Given the description of an element on the screen output the (x, y) to click on. 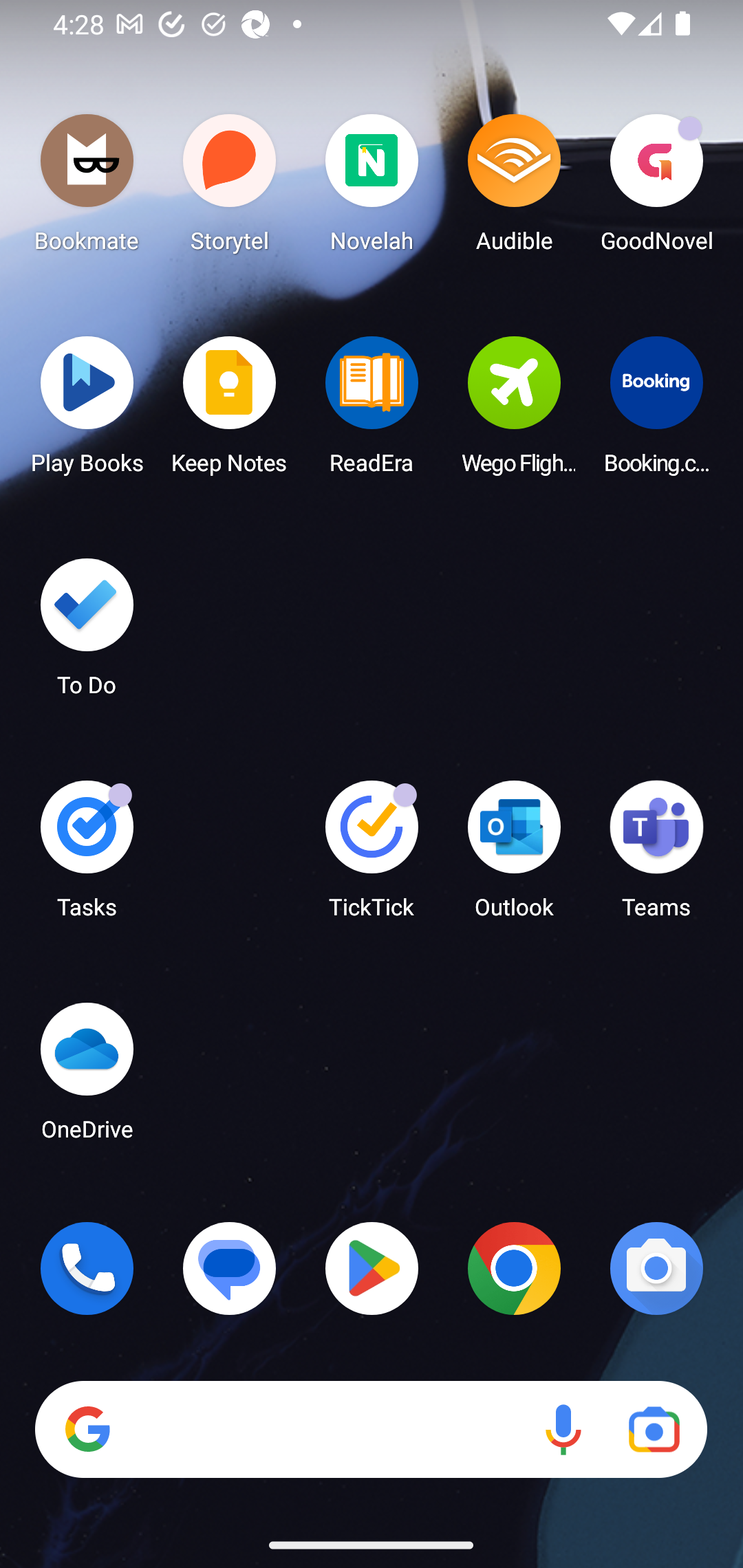
Bookmate (86, 188)
Storytel (229, 188)
Novelah (371, 188)
Audible (513, 188)
GoodNovel GoodNovel has 1 notification (656, 188)
Play Books (86, 410)
Keep Notes (229, 410)
ReadEra (371, 410)
Wego Flights & Hotels (513, 410)
Booking.com (656, 410)
To Do (86, 633)
Tasks Tasks has 1 notification (86, 854)
TickTick TickTick has 3 notifications (371, 854)
Outlook (513, 854)
Teams (656, 854)
OneDrive (86, 1076)
Phone (86, 1268)
Messages (229, 1268)
Play Store (371, 1268)
Chrome (513, 1268)
Camera (656, 1268)
Search Voice search Google Lens (370, 1429)
Voice search (562, 1429)
Google Lens (653, 1429)
